Given the description of an element on the screen output the (x, y) to click on. 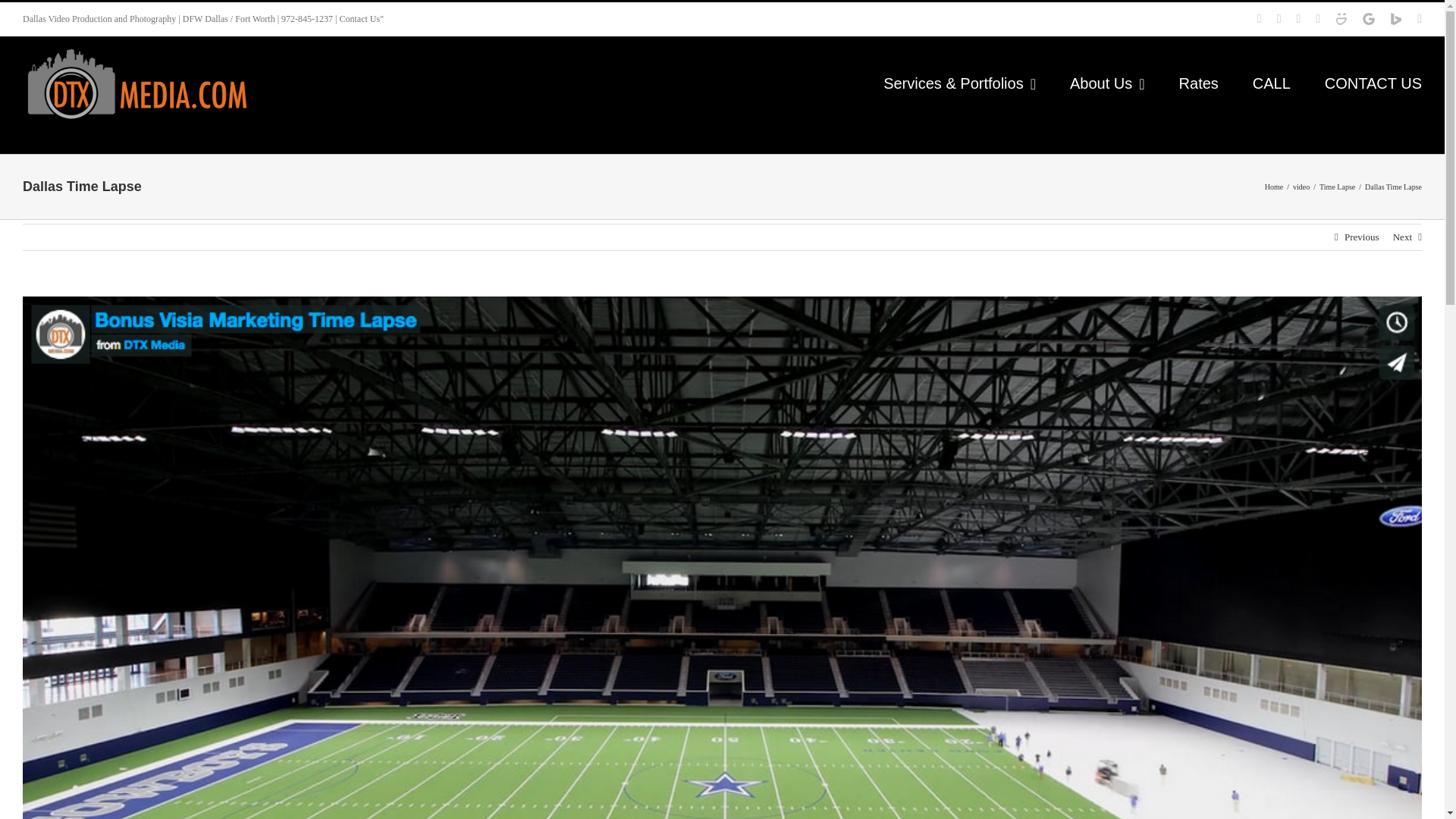
Smugmug (1341, 19)
Bing (1396, 19)
Contact Us" (361, 18)
Google Maps (1368, 19)
972-845-1237 (307, 18)
